Given the description of an element on the screen output the (x, y) to click on. 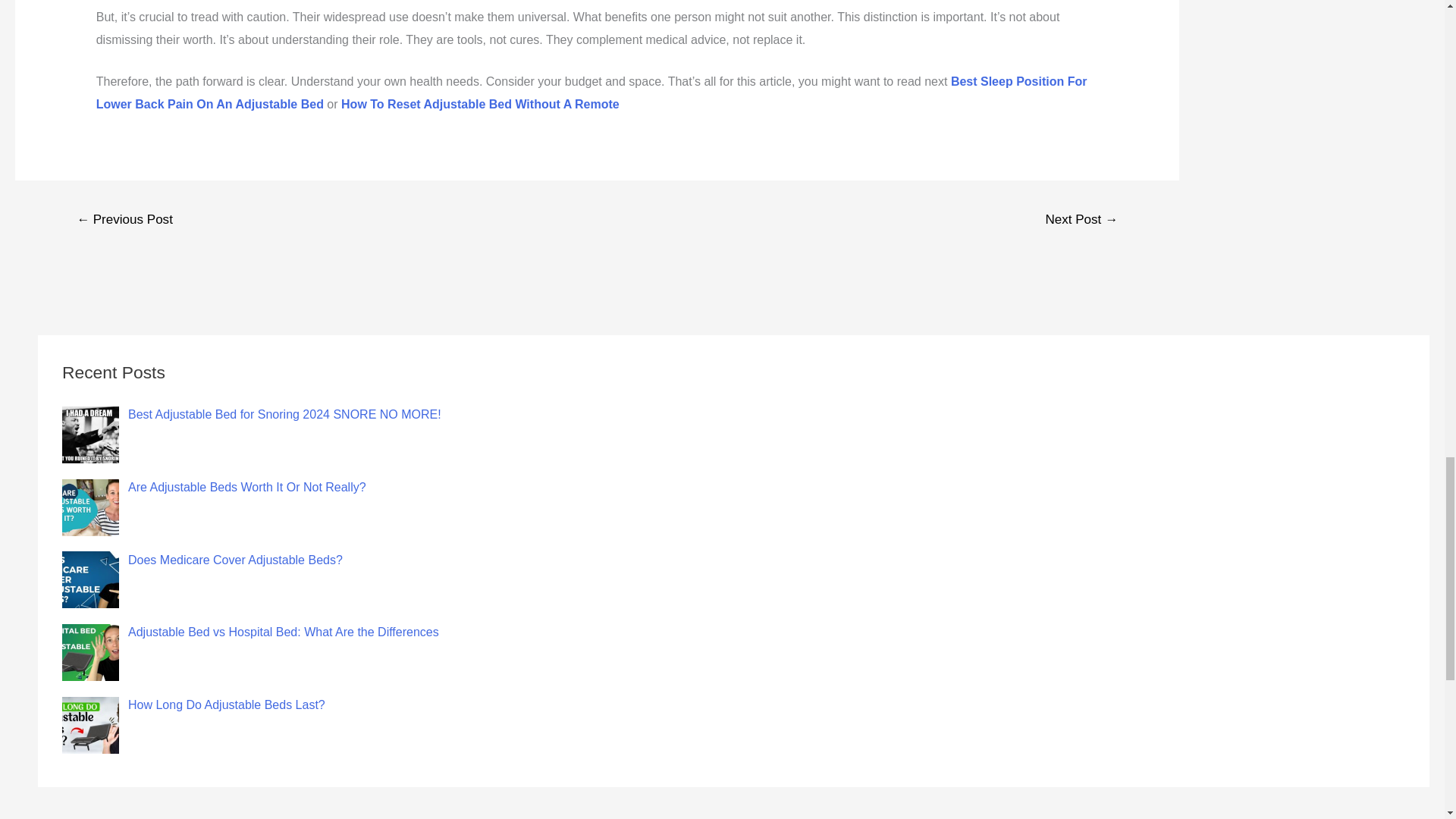
Adjustable Bed vs Hospital Bed: What Are the Differences (283, 631)
How Long Do Adjustable Beds Last? (226, 704)
Best Sleep Position For Lower Back Pain On An Adjustable Bed (591, 92)
Are Adjustable Beds Worth It Or Not Really? (247, 486)
Best Adjustable Bed for Snoring 2024 SNORE NO MORE! (284, 413)
Does Medicare Cover Adjustable Beds? (235, 559)
How To Reset Adjustable Bed Without A Remote (480, 103)
